Given the description of an element on the screen output the (x, y) to click on. 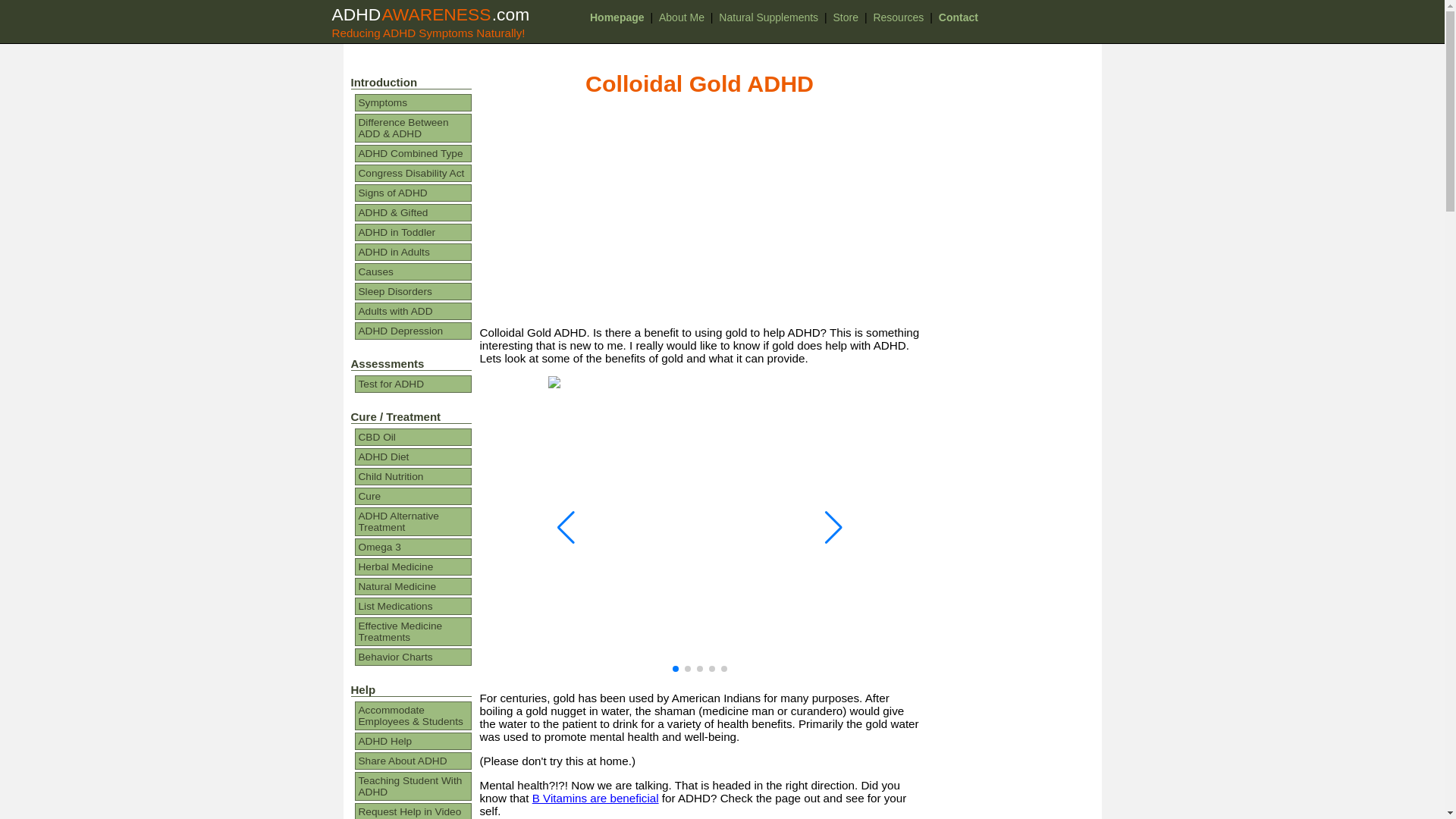
ADHD AWARENESS .com (430, 14)
B Vitamins are beneficial (595, 797)
Store (845, 16)
Natural Supplements (767, 16)
Homepage (617, 16)
Signs of ADHD (412, 192)
ADHD in Toddler (412, 232)
Symptoms (412, 102)
ADHD Combined Type (412, 153)
About Me (681, 16)
Resources (898, 16)
Congress Disability Act (412, 172)
Contact (957, 16)
